Given the description of an element on the screen output the (x, y) to click on. 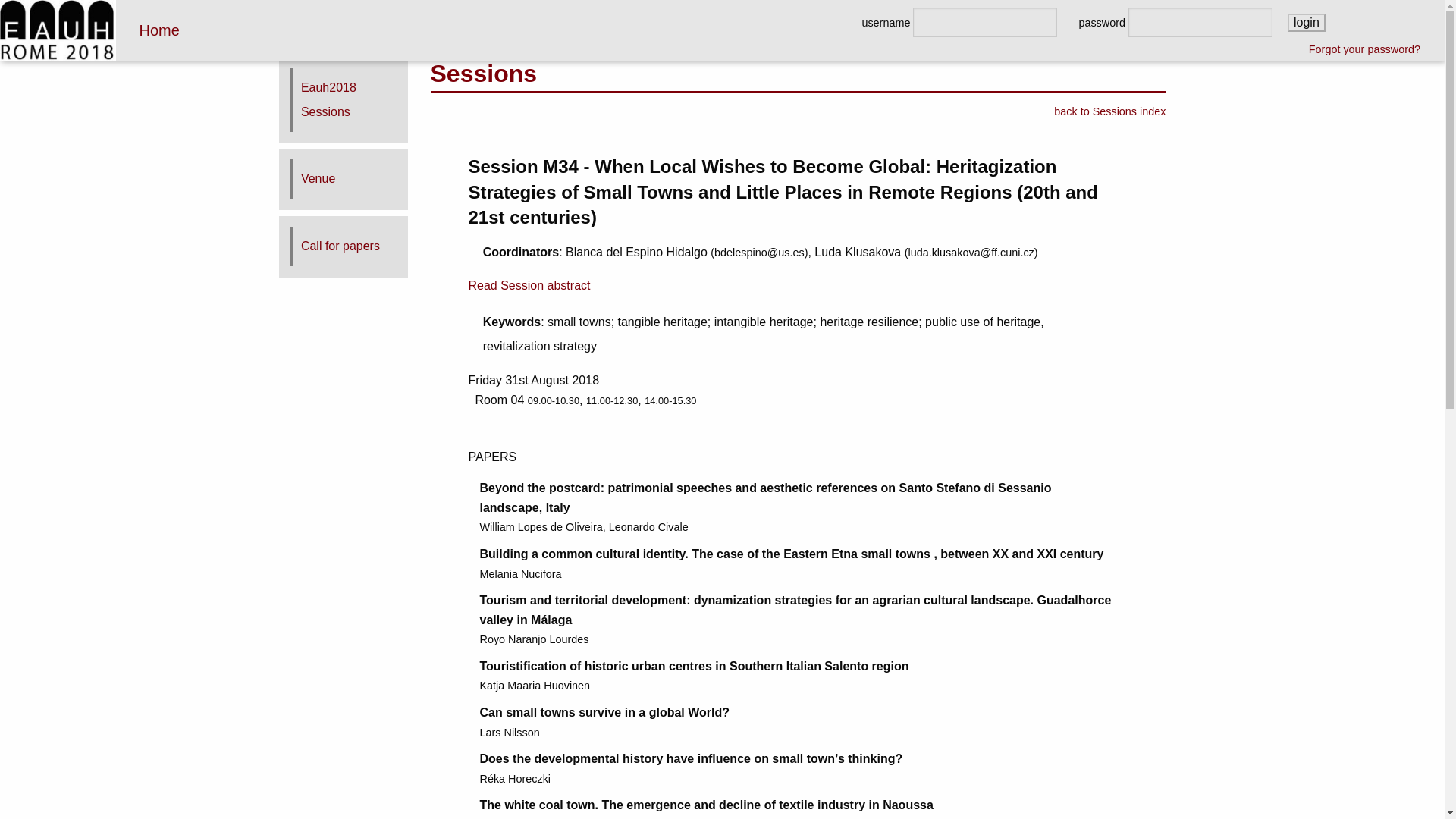
back to Sessions index (1110, 111)
login (1305, 22)
Call for papers (340, 245)
Forgot your password? (1364, 49)
Eauh2018 Sessions (328, 99)
Home (158, 29)
Venue (317, 178)
login (1305, 22)
Read Session abstract (529, 285)
